Given the description of an element on the screen output the (x, y) to click on. 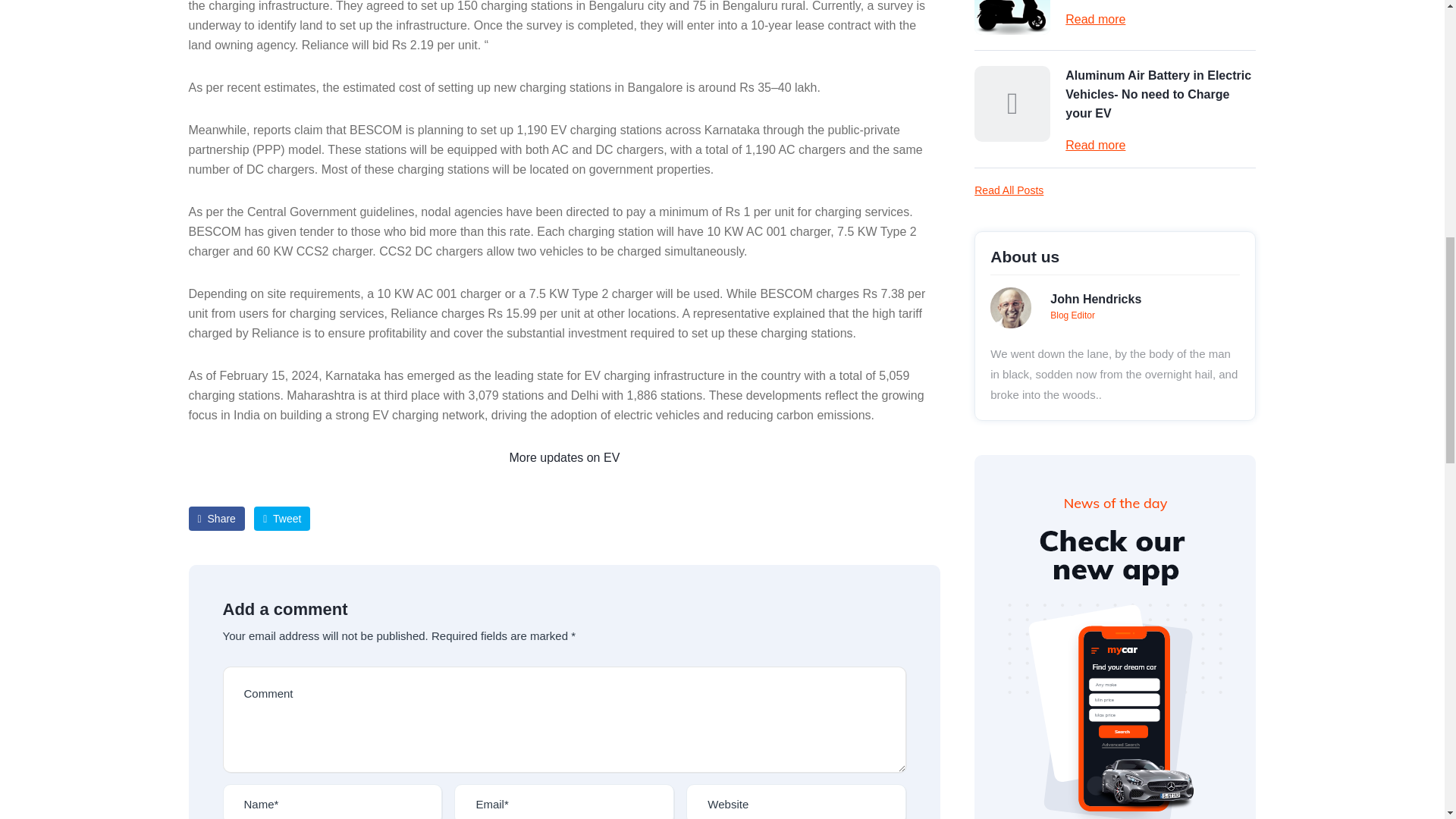
Tweet (281, 518)
Share (215, 518)
More updates on EV (564, 457)
